Given the description of an element on the screen output the (x, y) to click on. 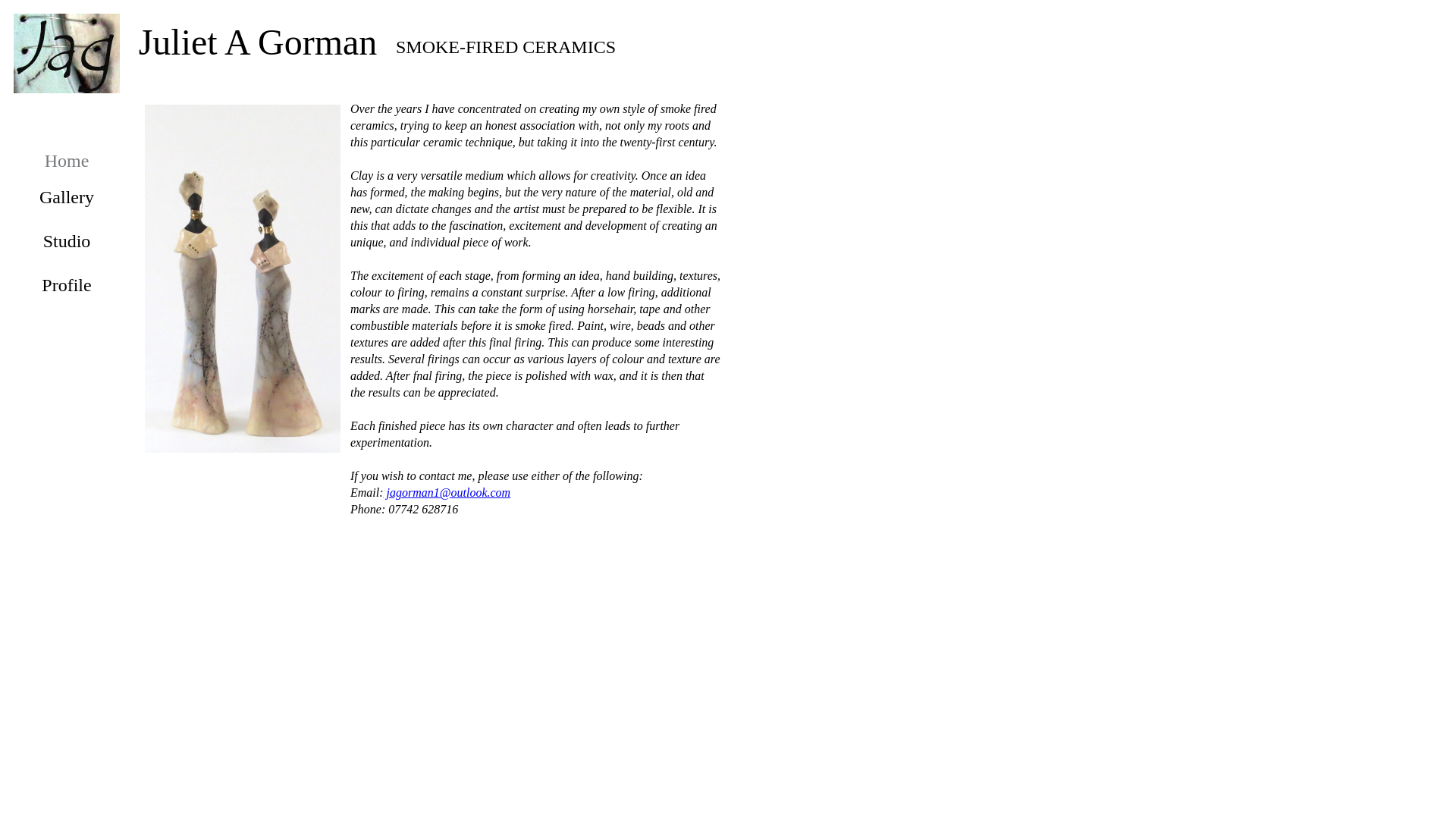
Gallery (66, 197)
Studio (66, 240)
Profile (66, 284)
